Given the description of an element on the screen output the (x, y) to click on. 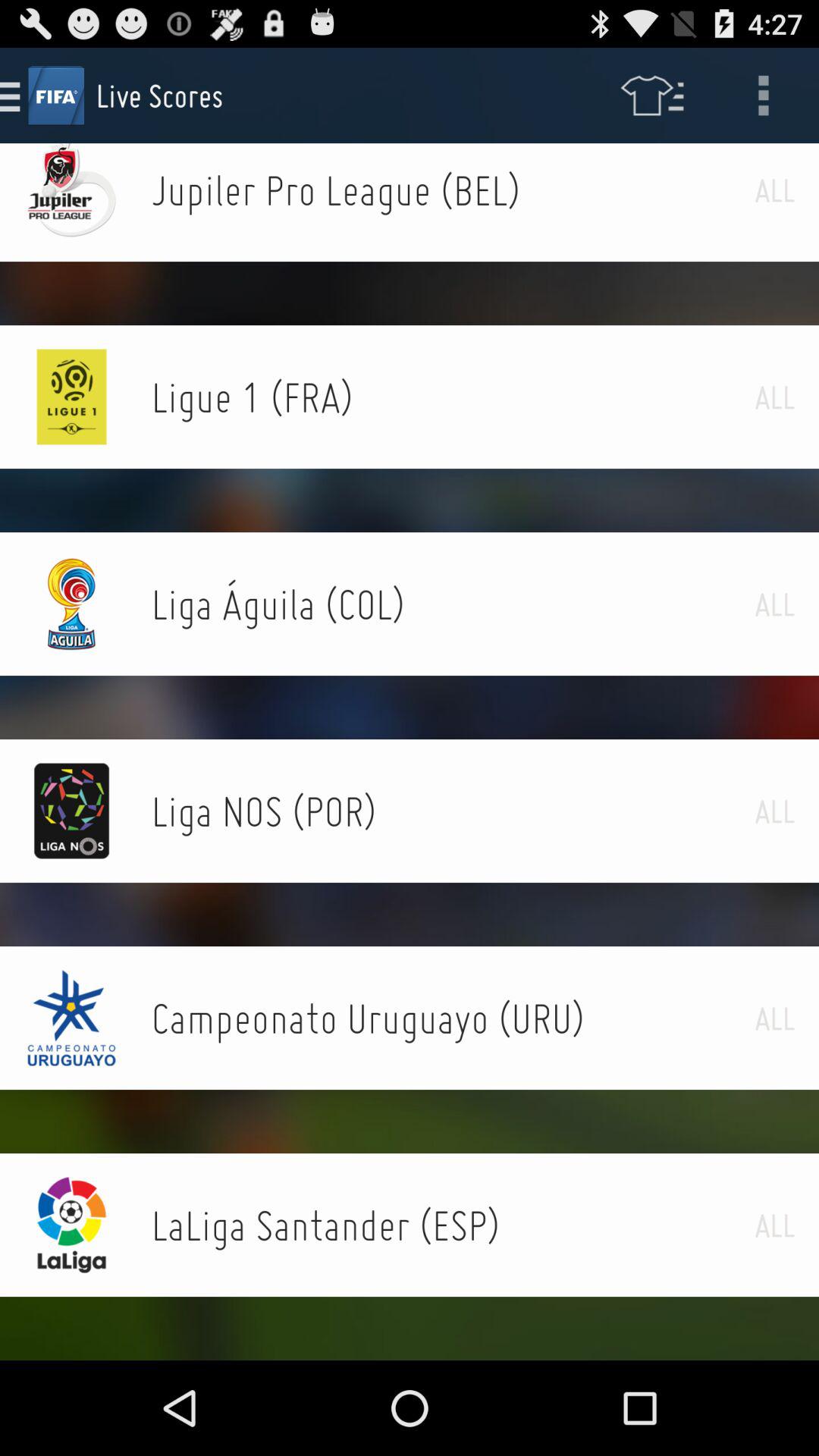
launch the liga nos (por) item (452, 810)
